Given the description of an element on the screen output the (x, y) to click on. 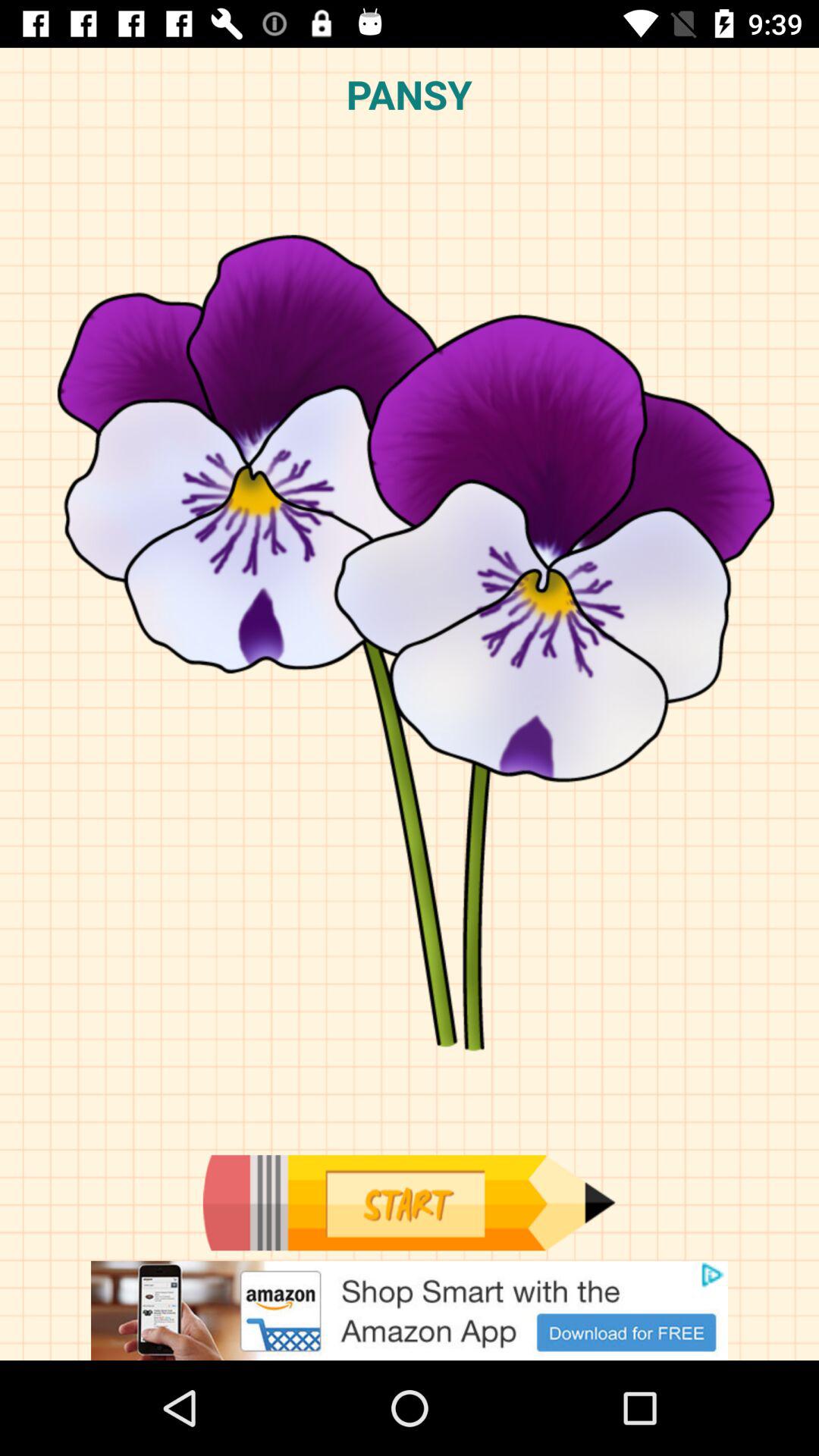
start drawing (409, 1202)
